Given the description of an element on the screen output the (x, y) to click on. 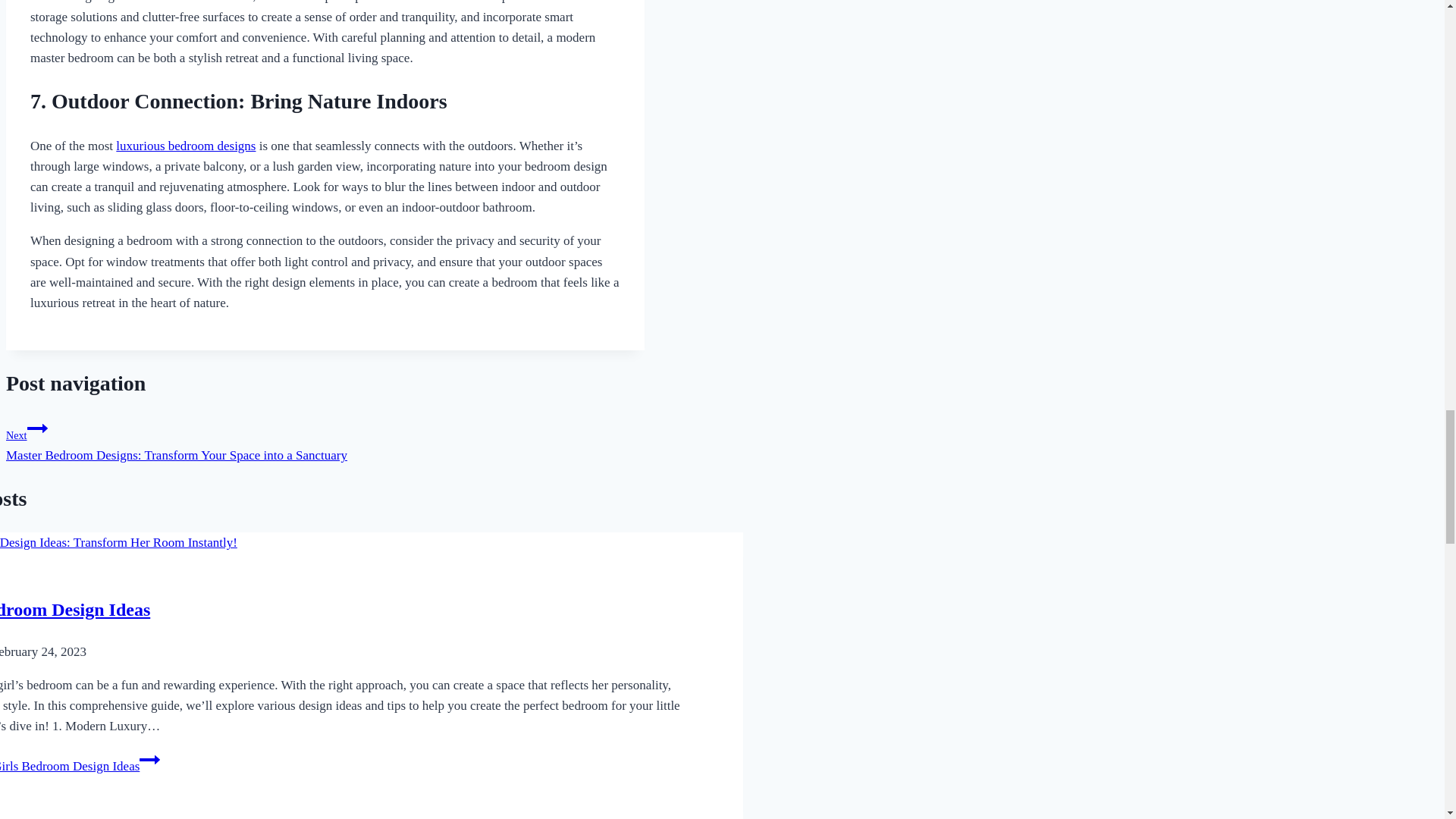
Continue (149, 759)
Girls Bedroom Design Ideas (74, 609)
Continue (37, 427)
Read More Girls Bedroom Design IdeasContinue (80, 766)
luxurious bedroom designs (186, 145)
